Given the description of an element on the screen output the (x, y) to click on. 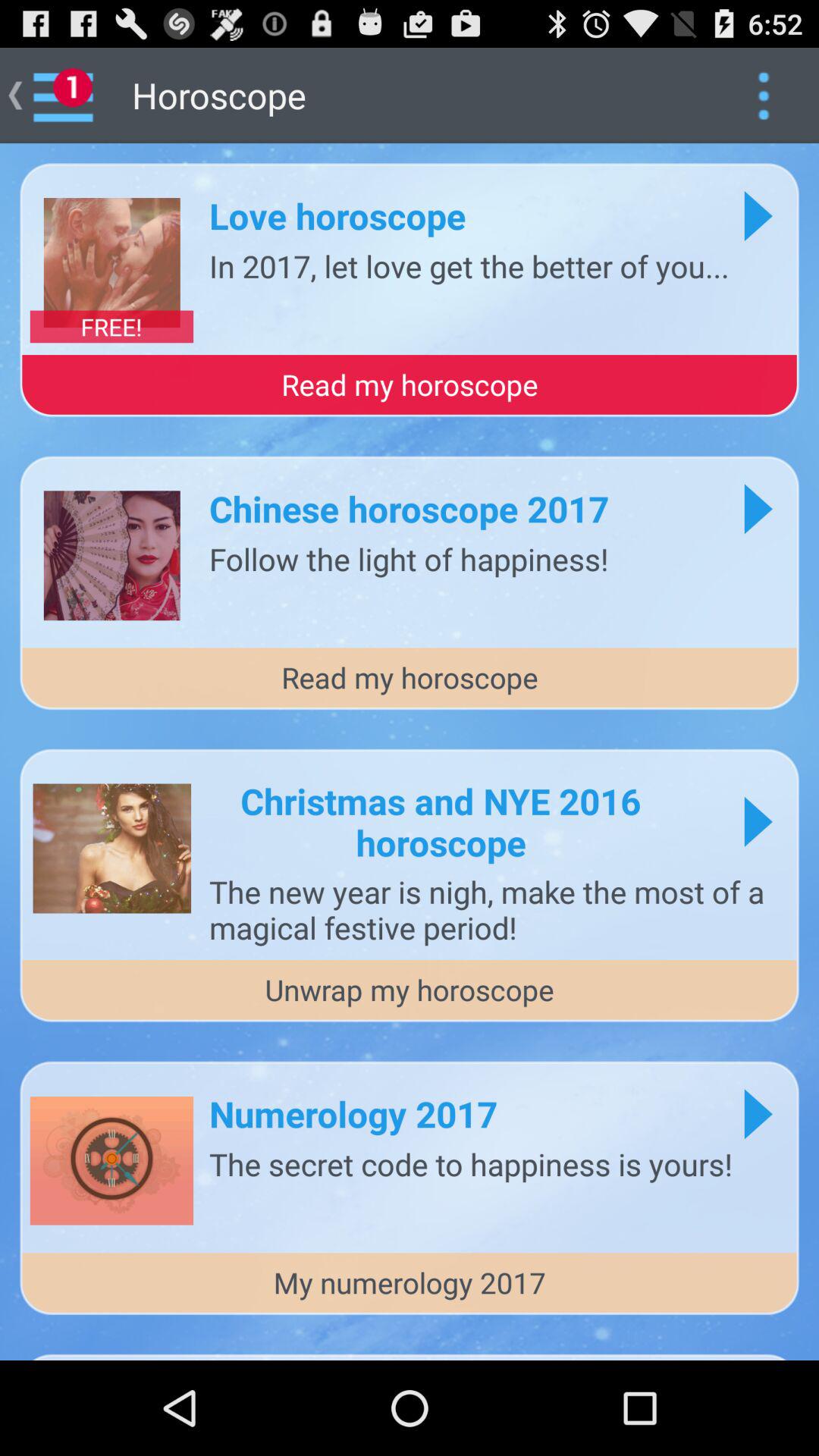
choose app above unwrap my horoscope item (495, 909)
